Given the description of an element on the screen output the (x, y) to click on. 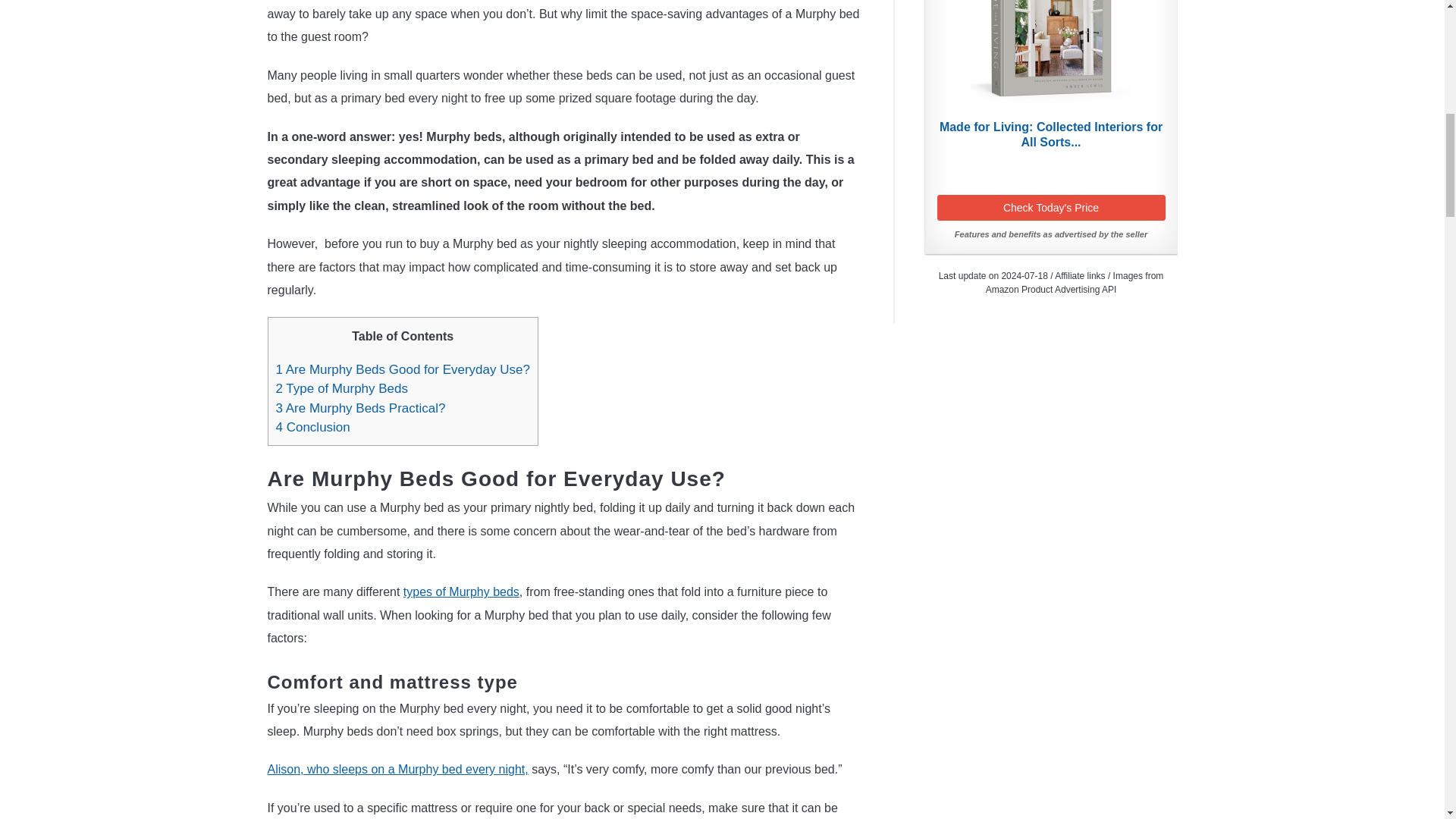
1 Are Murphy Beds Good for Everyday Use? (402, 369)
Made for Living: Collected Interiors for All Sorts of... (1050, 56)
Alison, who sleeps on a Murphy bed every night, (396, 768)
3 Are Murphy Beds Practical? (360, 408)
Made for Living: Collected Interiors for All Sorts... (1051, 134)
Check Today's Price (1051, 207)
Made for Living: Collected Interiors for All Sorts of... (1051, 134)
types of Murphy beds (461, 591)
Check Today's Price (1051, 207)
4 Conclusion   (317, 427)
2 Type of Murphy Beds (342, 388)
